Given the description of an element on the screen output the (x, y) to click on. 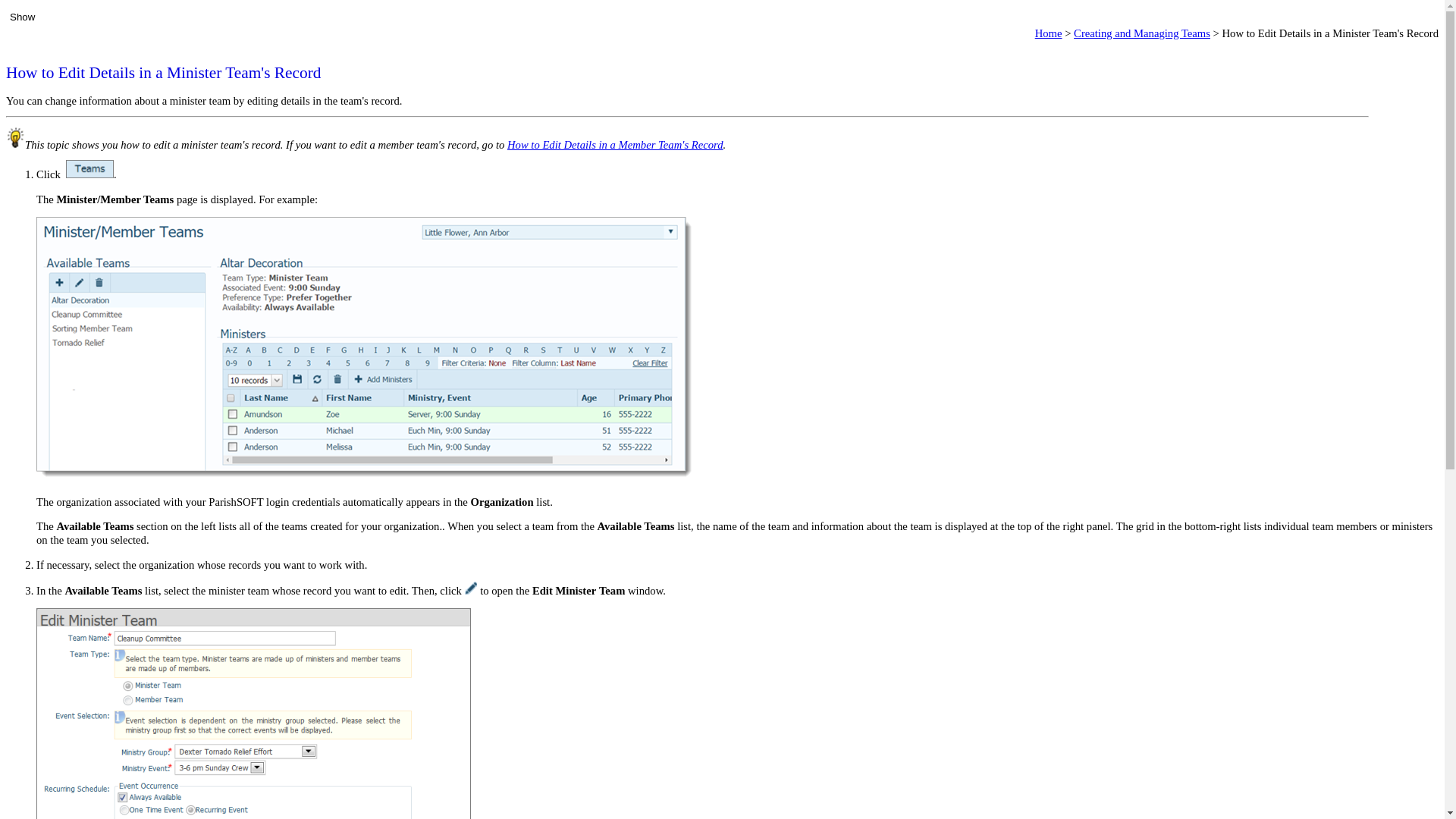
Show Navigation Component (22, 16)
Show (22, 16)
Home (1048, 33)
How to Edit Details in a Member Team's Record (614, 144)
minister team (238, 590)
Creating and Managing Teams (1141, 33)
